Given the description of an element on the screen output the (x, y) to click on. 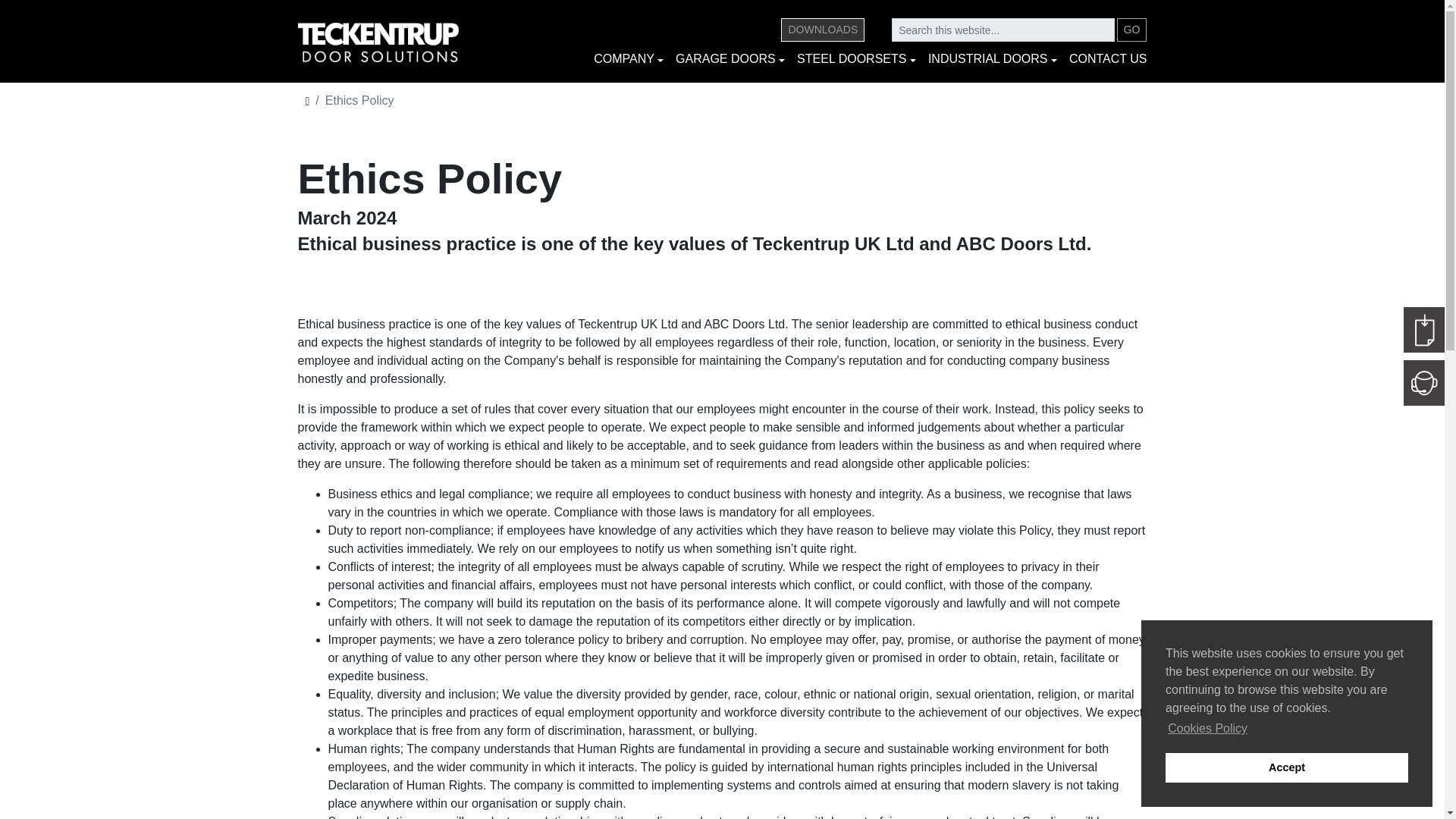
GARAGE DOORS (729, 58)
GO (1131, 29)
STEEL DOORSETS (855, 58)
DOWNLOADS (822, 29)
Cookies Policy (1207, 728)
COMPANY (628, 58)
Accept (1286, 767)
Homepage (397, 42)
